Given the description of an element on the screen output the (x, y) to click on. 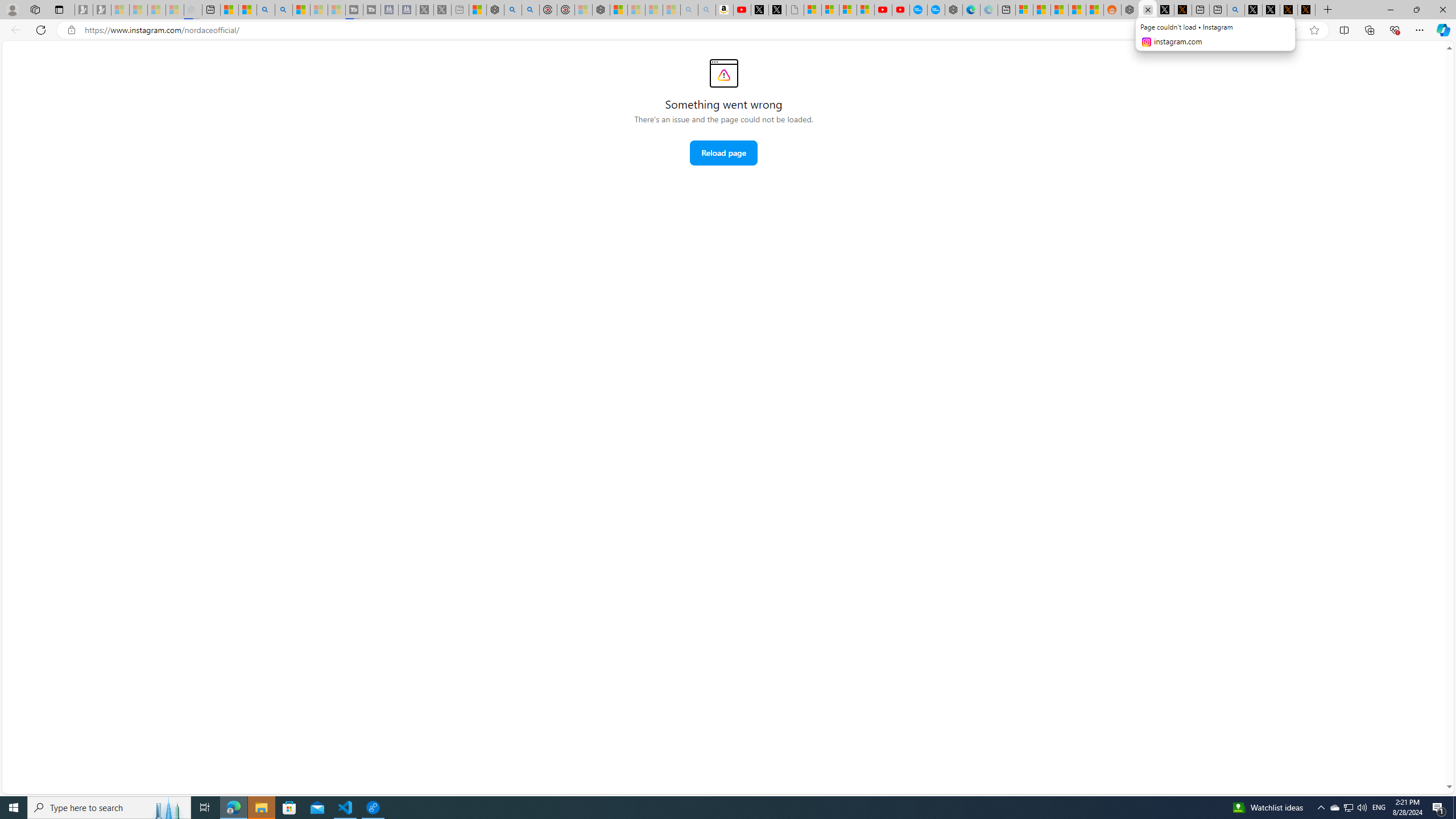
Amazon Echo Dot PNG - Search Images - Sleeping (706, 9)
Untitled (794, 9)
